Given the description of an element on the screen output the (x, y) to click on. 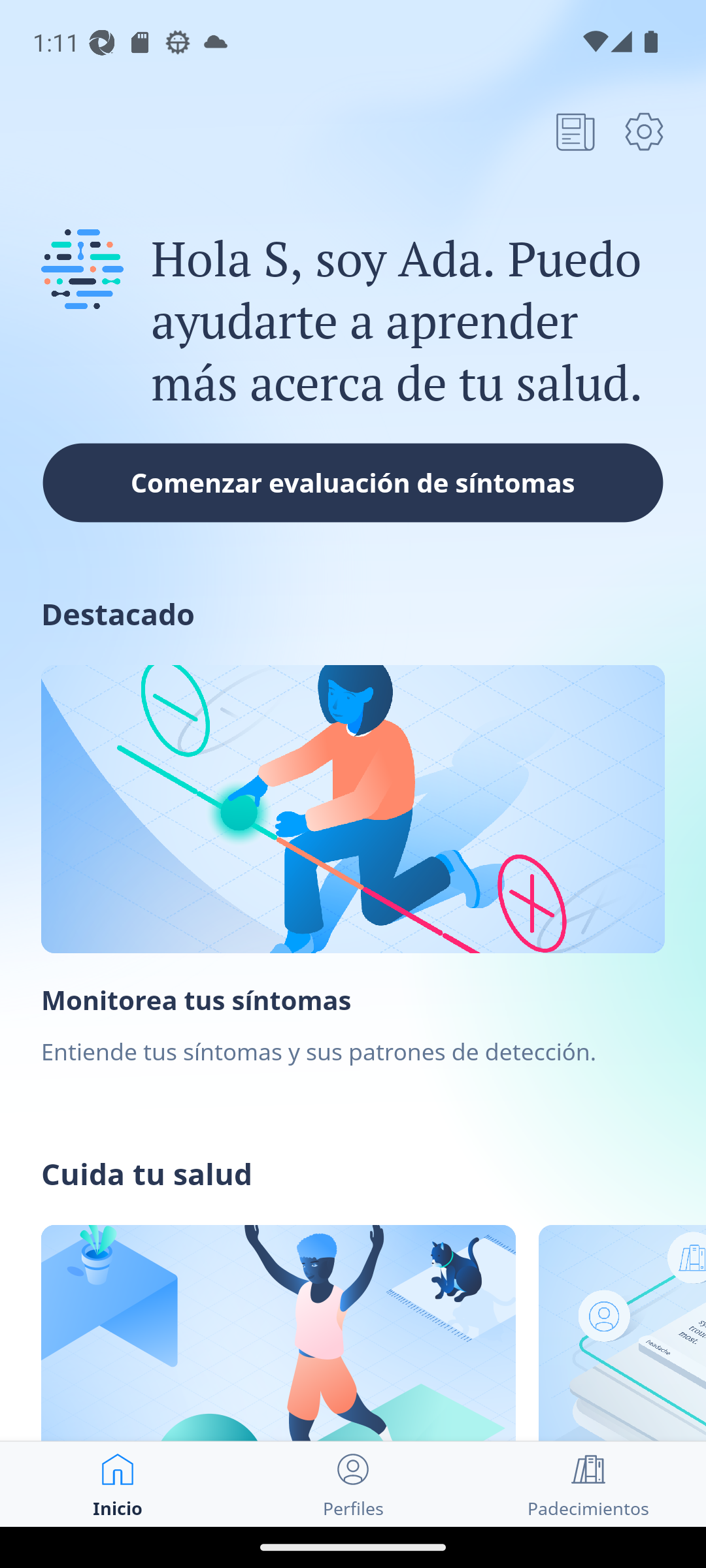
article icon , open articles (574, 131)
settings icon, open settings (644, 131)
Comenzar evaluación de síntomas (352, 482)
Inicio (117, 1484)
Perfiles (352, 1484)
Padecimientos (588, 1484)
